Given the description of an element on the screen output the (x, y) to click on. 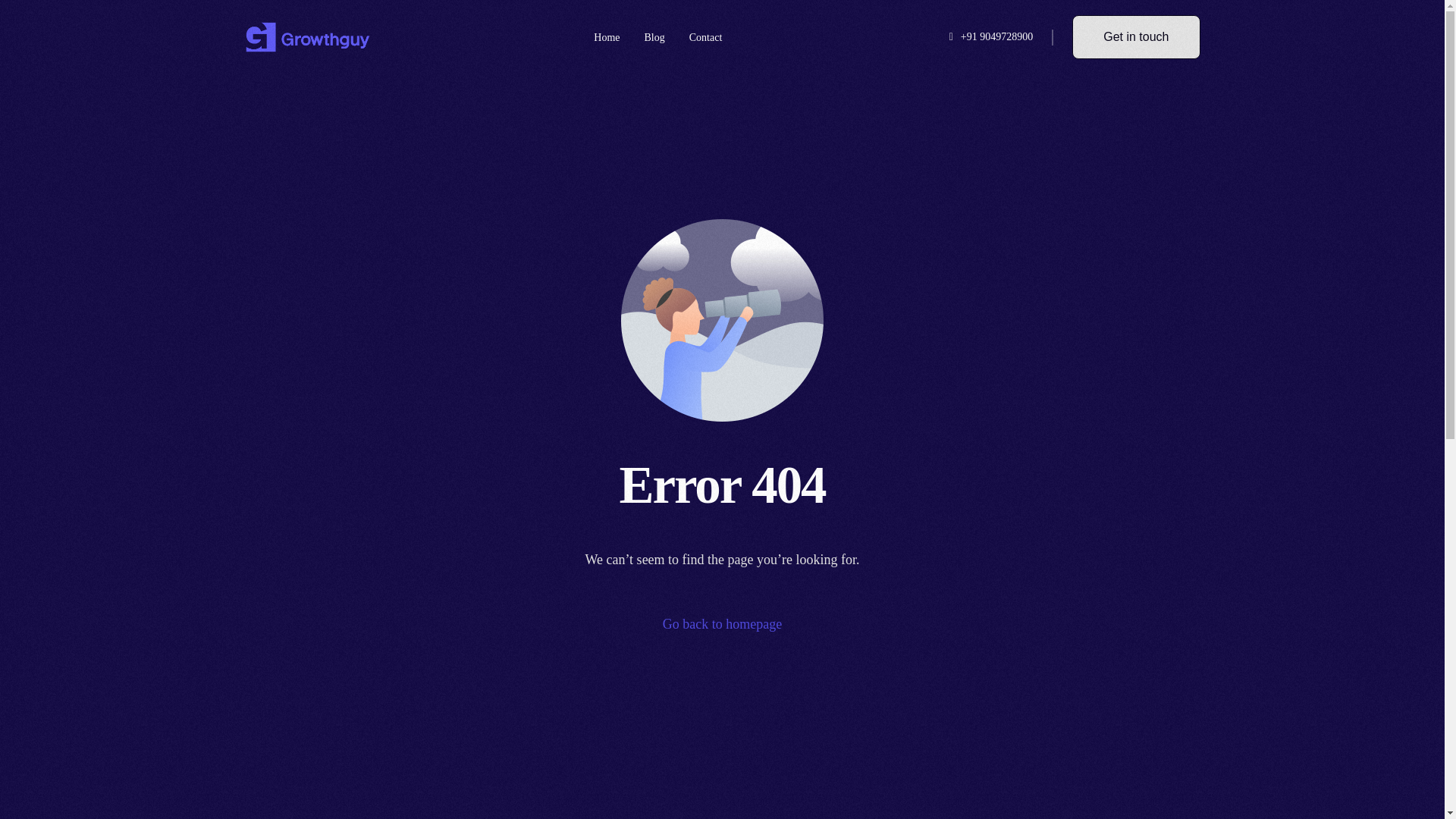
Go back to homepage (721, 624)
Get in touch (1135, 36)
